Given the description of an element on the screen output the (x, y) to click on. 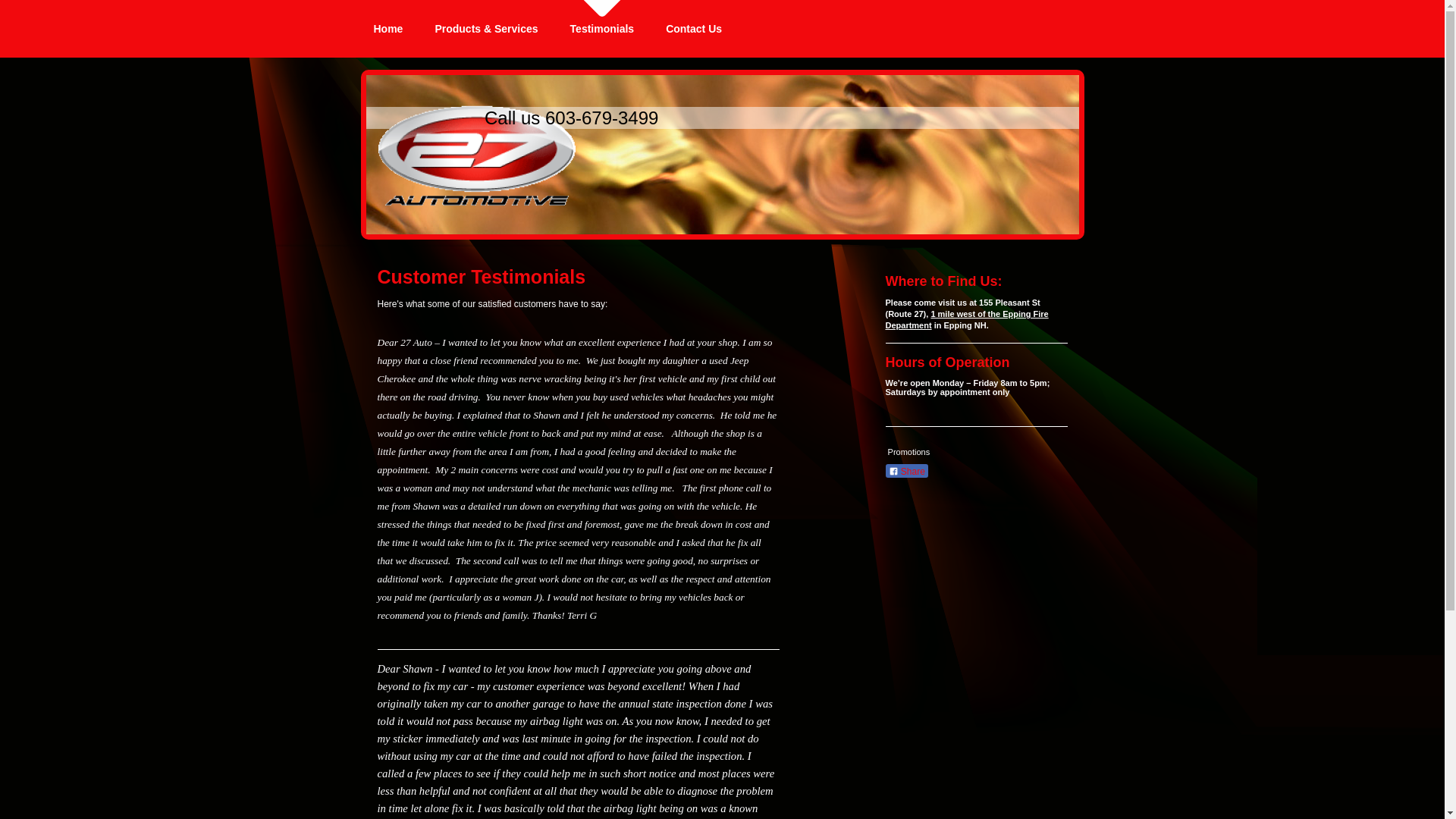
Contact Us Element type: text (693, 28)
Products & Services Element type: text (485, 28)
Share Element type: text (906, 470)
Home Element type: text (387, 28)
Testimonials Element type: text (602, 28)
